Given the description of an element on the screen output the (x, y) to click on. 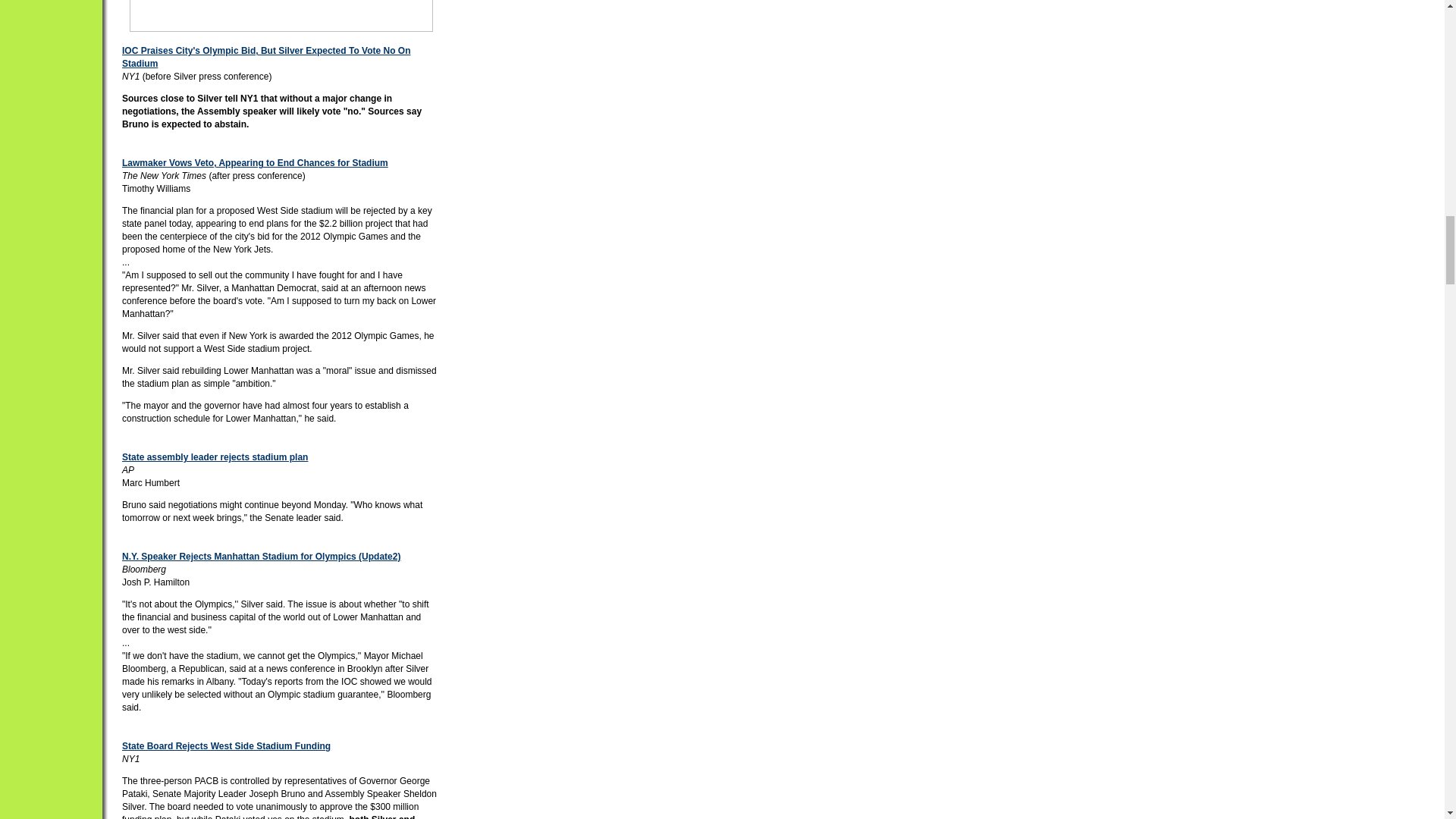
Lawmaker Vows Veto, Appearing to End Chances for Stadium (255, 163)
State Board Rejects West Side Stadium Funding (226, 746)
State assembly leader rejects stadium plan (214, 457)
